Given the description of an element on the screen output the (x, y) to click on. 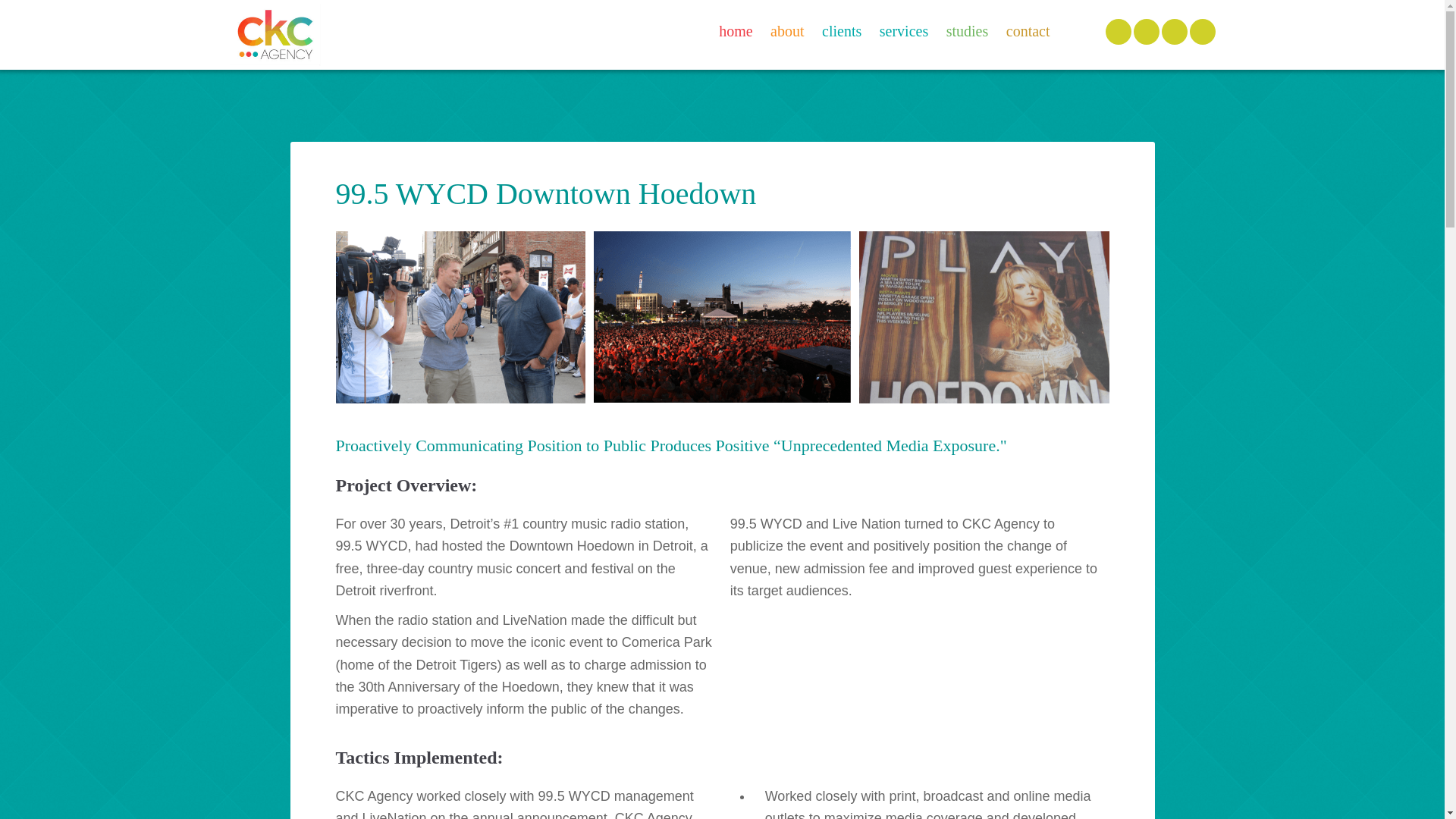
clients (841, 30)
contact (1028, 30)
about (786, 30)
services (904, 30)
studies (967, 30)
CKC AGENCY (274, 35)
home (735, 30)
